Given the description of an element on the screen output the (x, y) to click on. 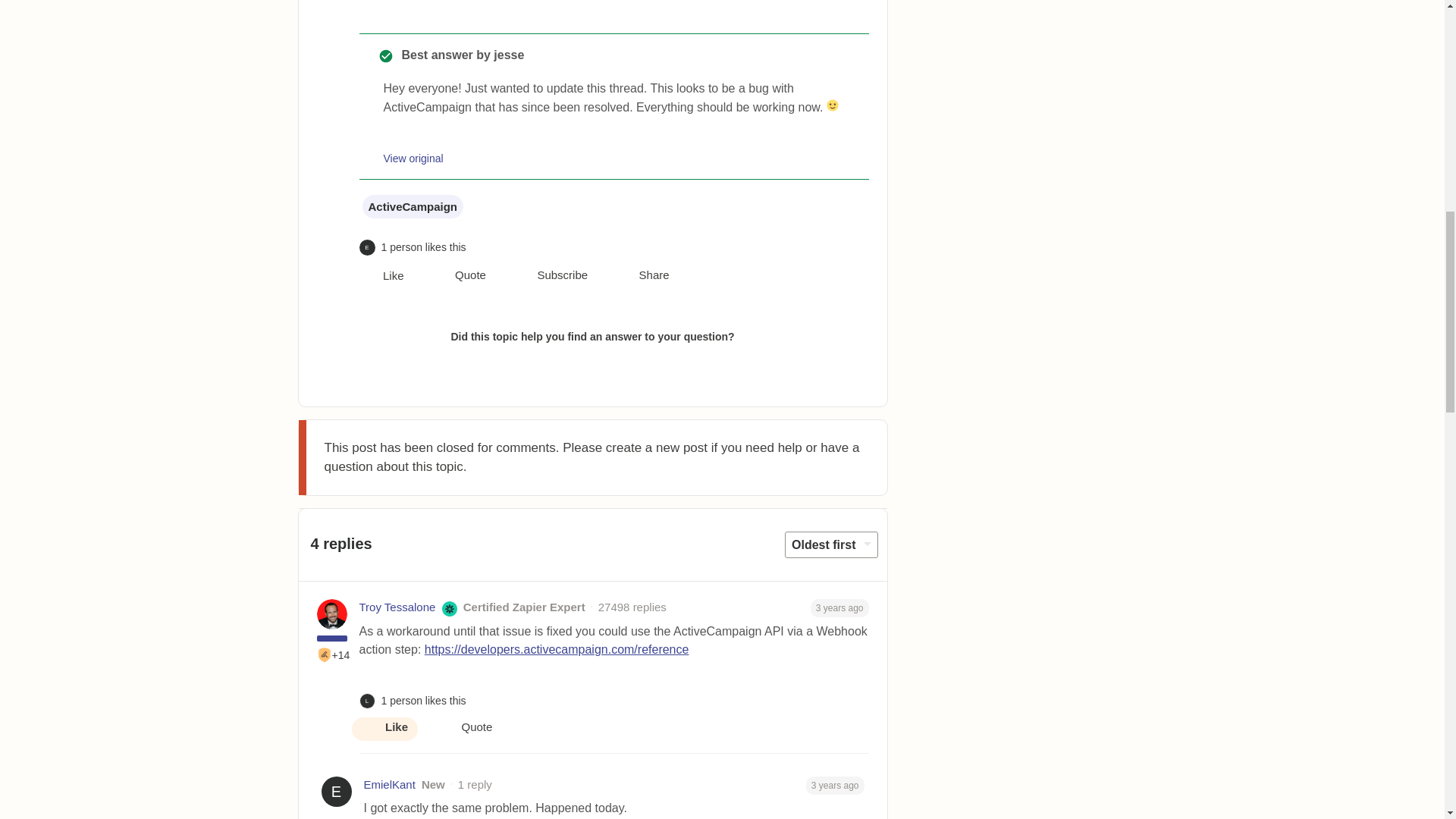
Troy Tessalone (397, 607)
EmielKant (389, 784)
First Best Answer (324, 654)
